Given the description of an element on the screen output the (x, y) to click on. 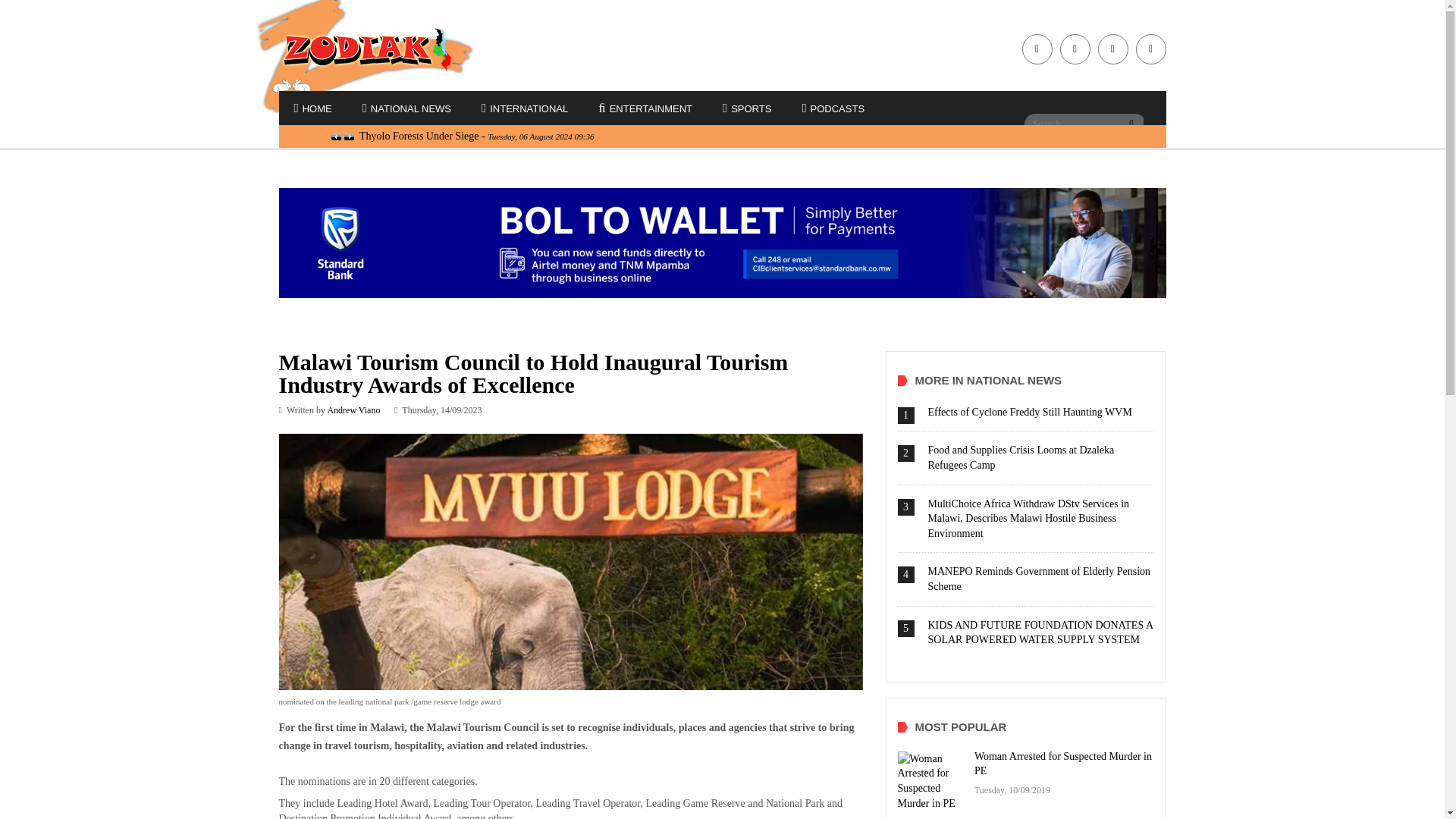
NATIONAL NEWS (406, 108)
Standard Bank - BOL to Wallet (722, 243)
INTERNATIONAL (524, 108)
HOME (313, 108)
Thyolo Forests Under Siege - Tuesday, 06 August 2024 09:36 (476, 135)
Andrew Viano (353, 409)
ENTERTAINMENT (645, 108)
ZODIAK MALAWI ONLINE (381, 49)
Go (1130, 123)
PODCASTS (832, 108)
